Given the description of an element on the screen output the (x, y) to click on. 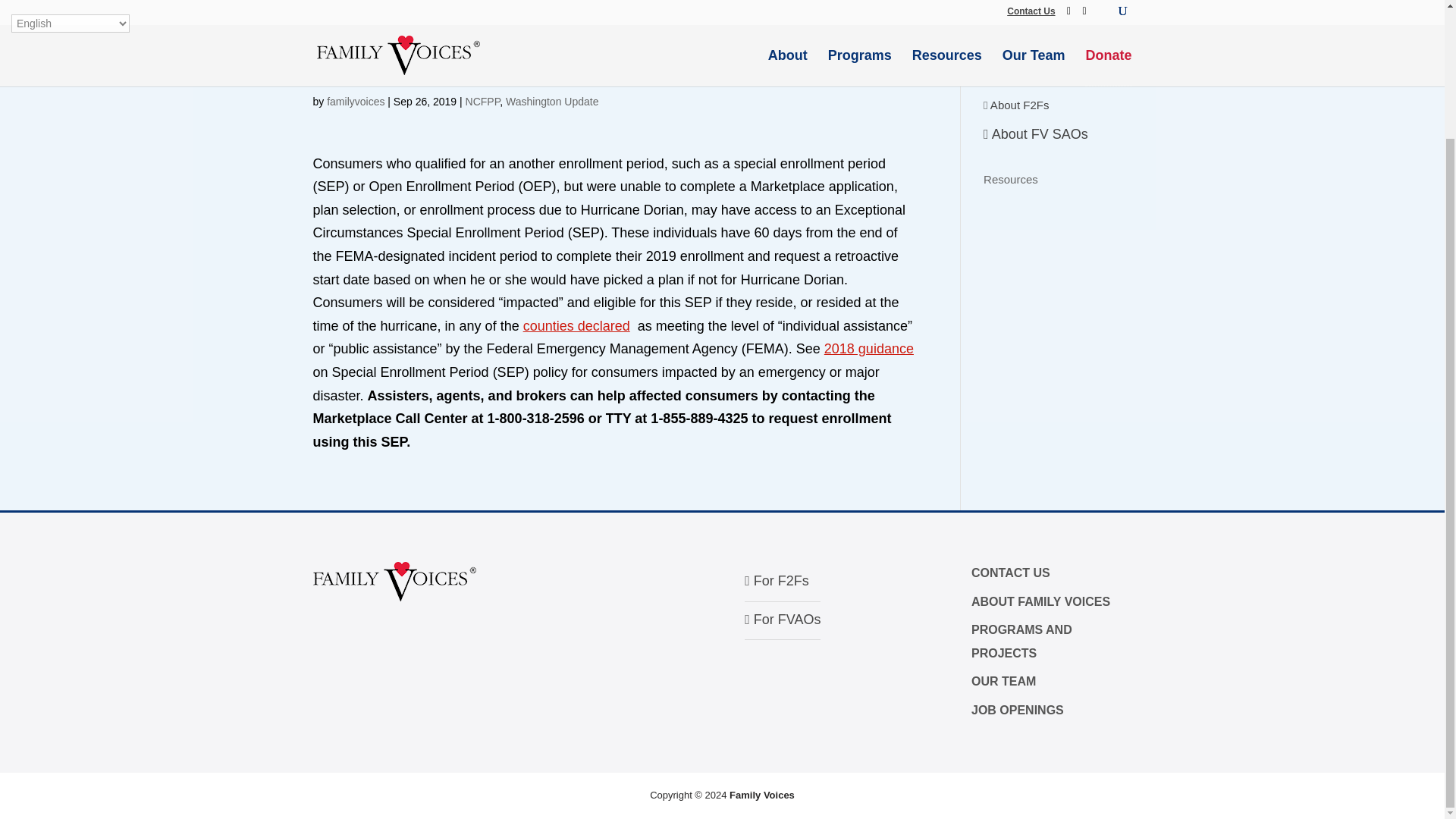
Washington Update (551, 101)
2018 guidance (869, 348)
Search (1106, 2)
Search (1106, 2)
NCFPP (482, 101)
CONTACT US (1010, 572)
Resources (1011, 178)
familyvoices (355, 101)
Resources (1011, 178)
For FVAOs (782, 619)
ABOUT FAMILY VOICES (1040, 601)
counties declared (576, 325)
OUR TEAM (1003, 680)
PROGRAMS AND PROJECTS (1021, 641)
About F2Fs (1016, 104)
